Given the description of an element on the screen output the (x, y) to click on. 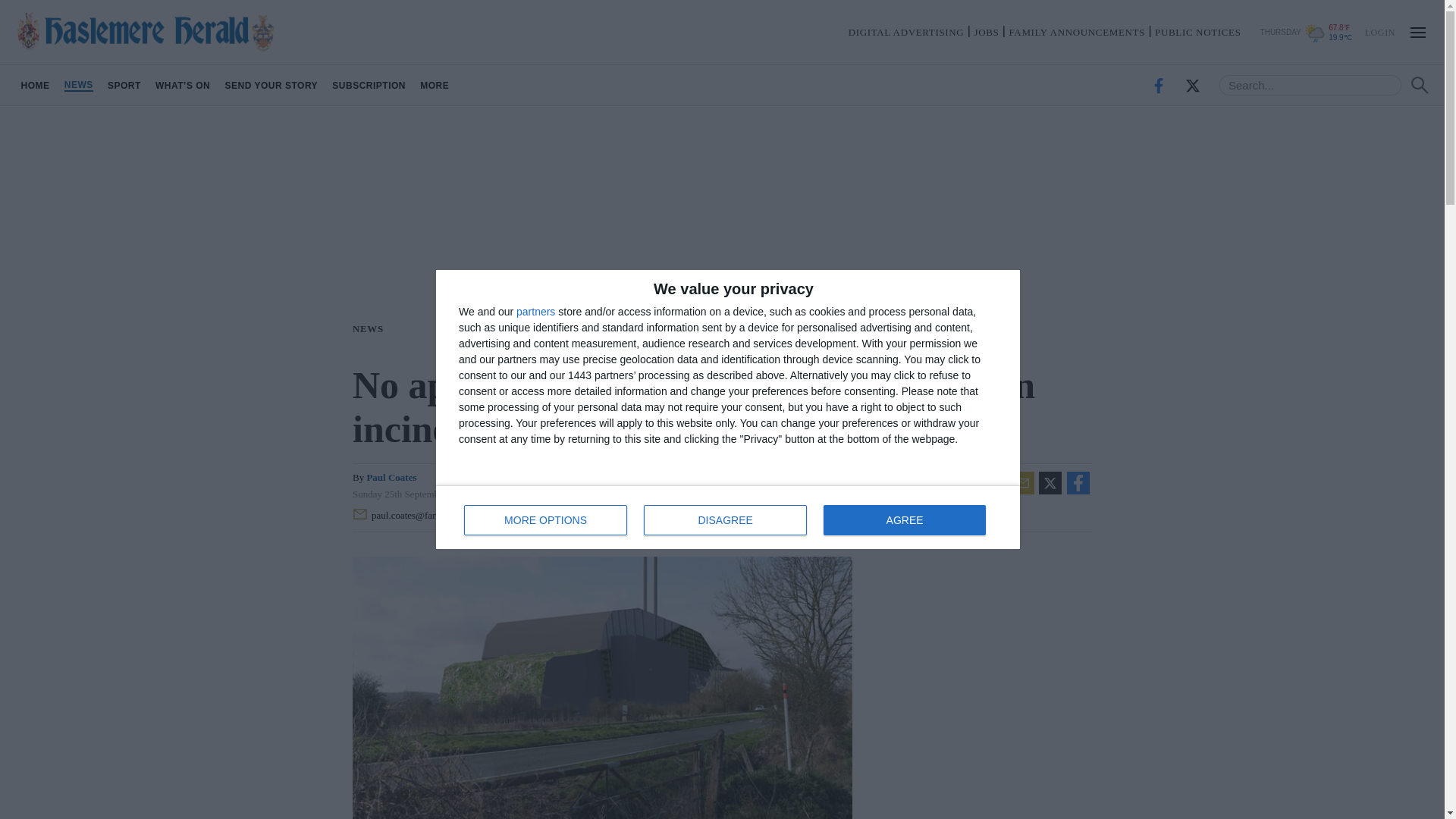
PUBLIC NOTICES (1197, 32)
SPORT (727, 516)
SUBSCRIPTION (124, 85)
AGREE (368, 85)
Paul Coates (904, 520)
HOME (391, 477)
NEWS (34, 85)
SEND YOUR STORY (78, 85)
LOGIN (270, 85)
MORE (1379, 31)
MORE OPTIONS (435, 85)
NEWS (545, 520)
partners (371, 328)
DISAGREE (535, 311)
